Given the description of an element on the screen output the (x, y) to click on. 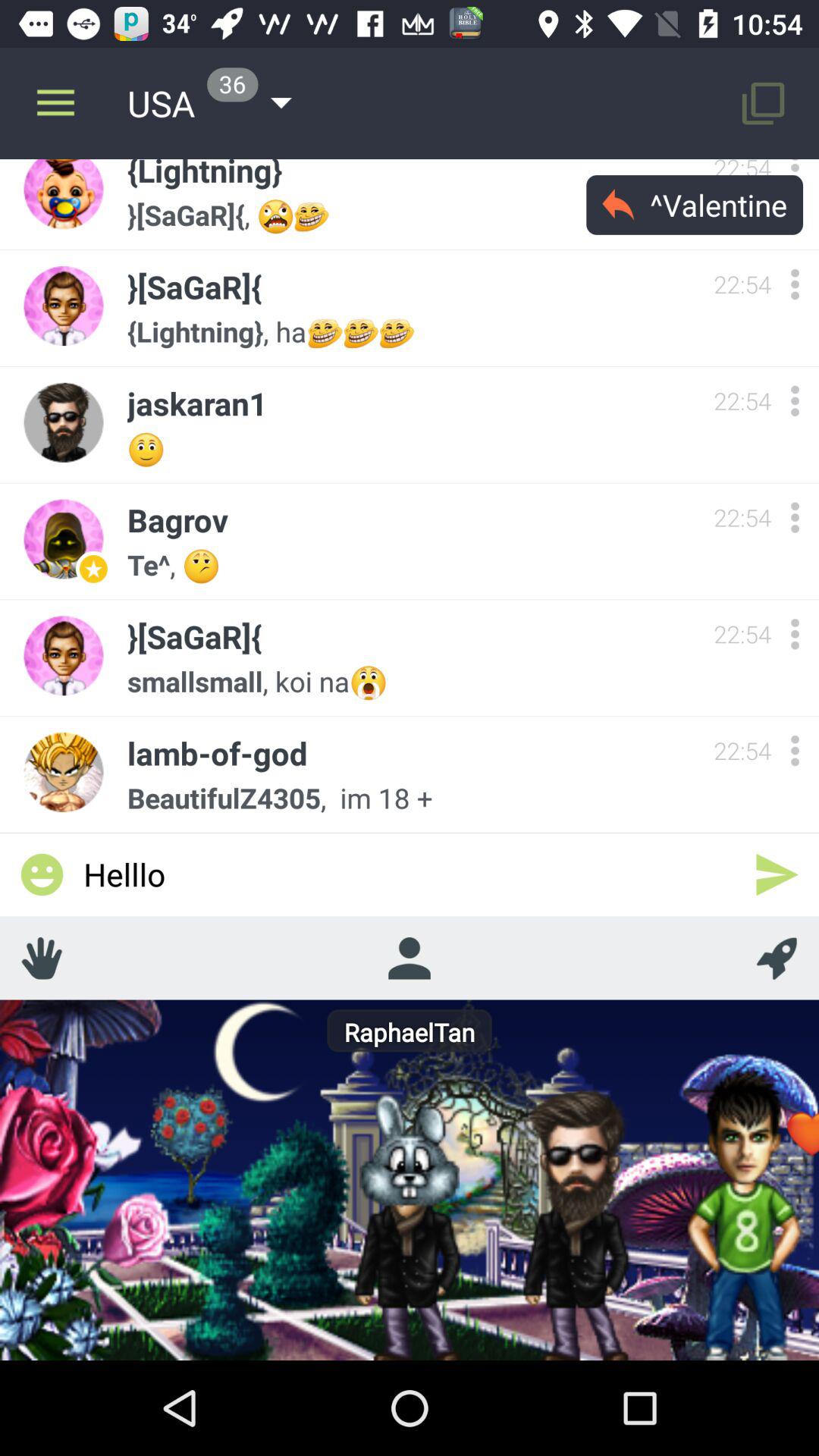
contact (409, 957)
